Given the description of an element on the screen output the (x, y) to click on. 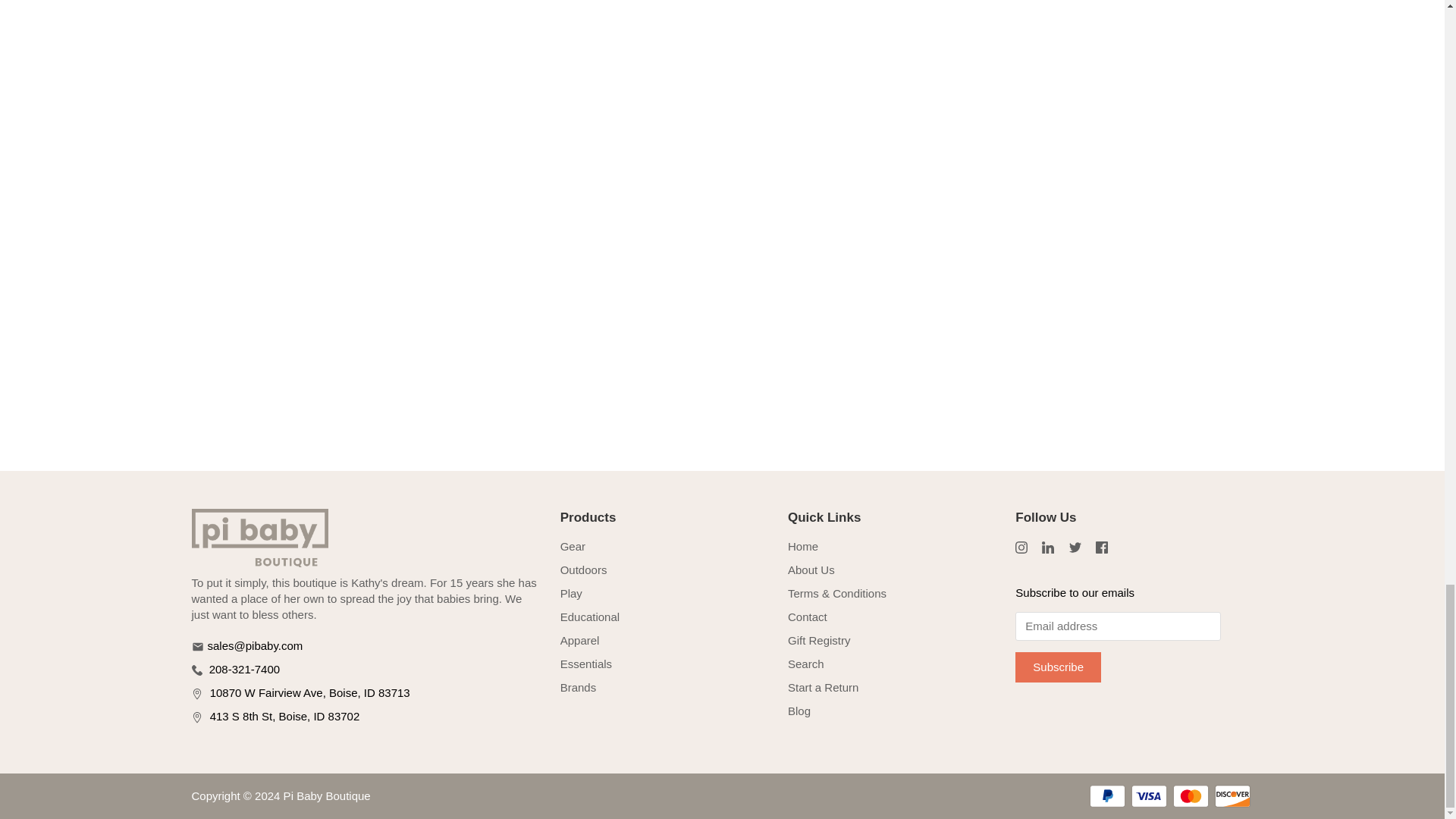
Instagram (1020, 547)
Email (196, 646)
Subscribe (1057, 666)
Twitter (1074, 547)
Facebook (1102, 547)
